Given the description of an element on the screen output the (x, y) to click on. 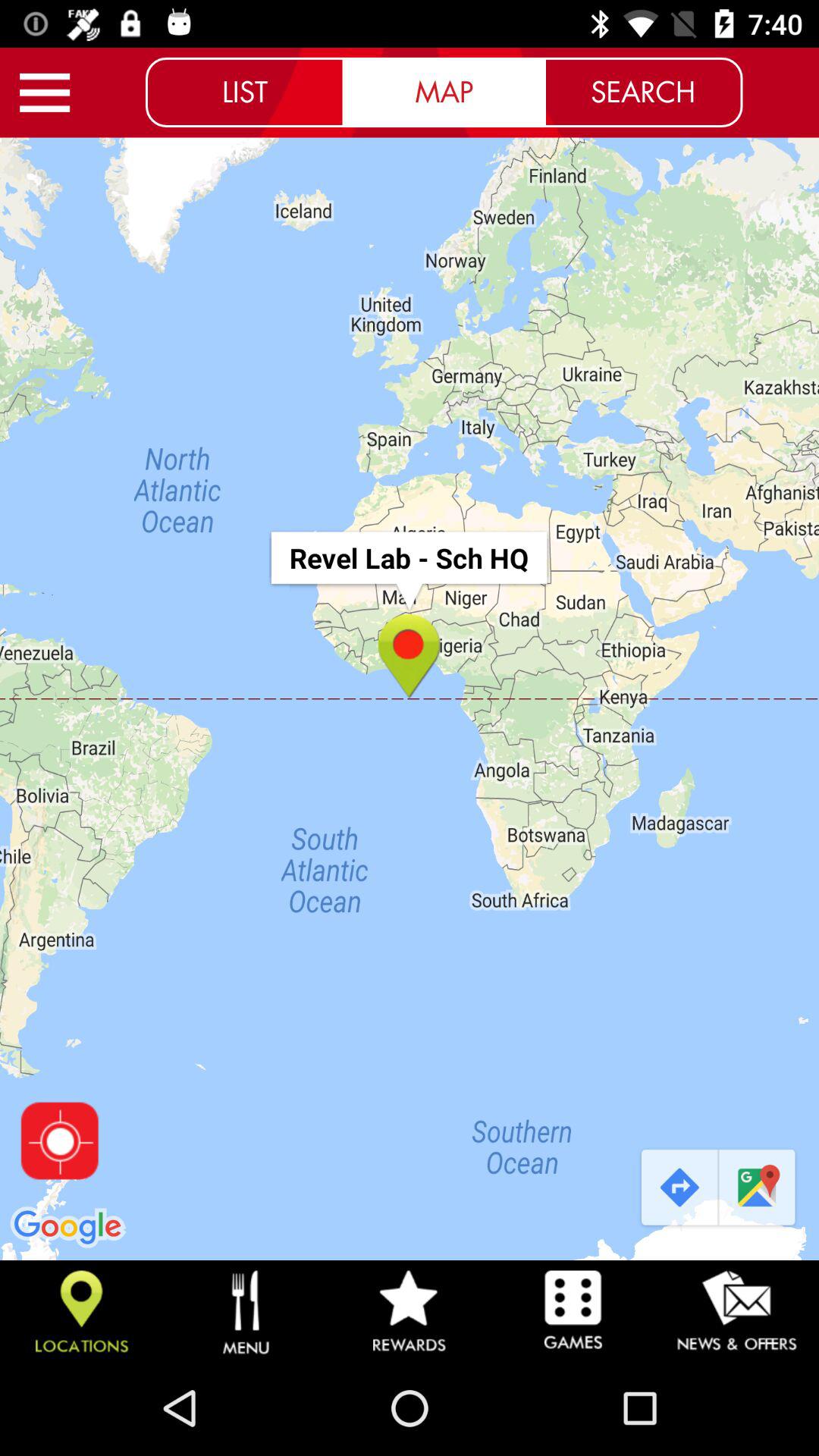
open the item at the top right corner (642, 92)
